Given the description of an element on the screen output the (x, y) to click on. 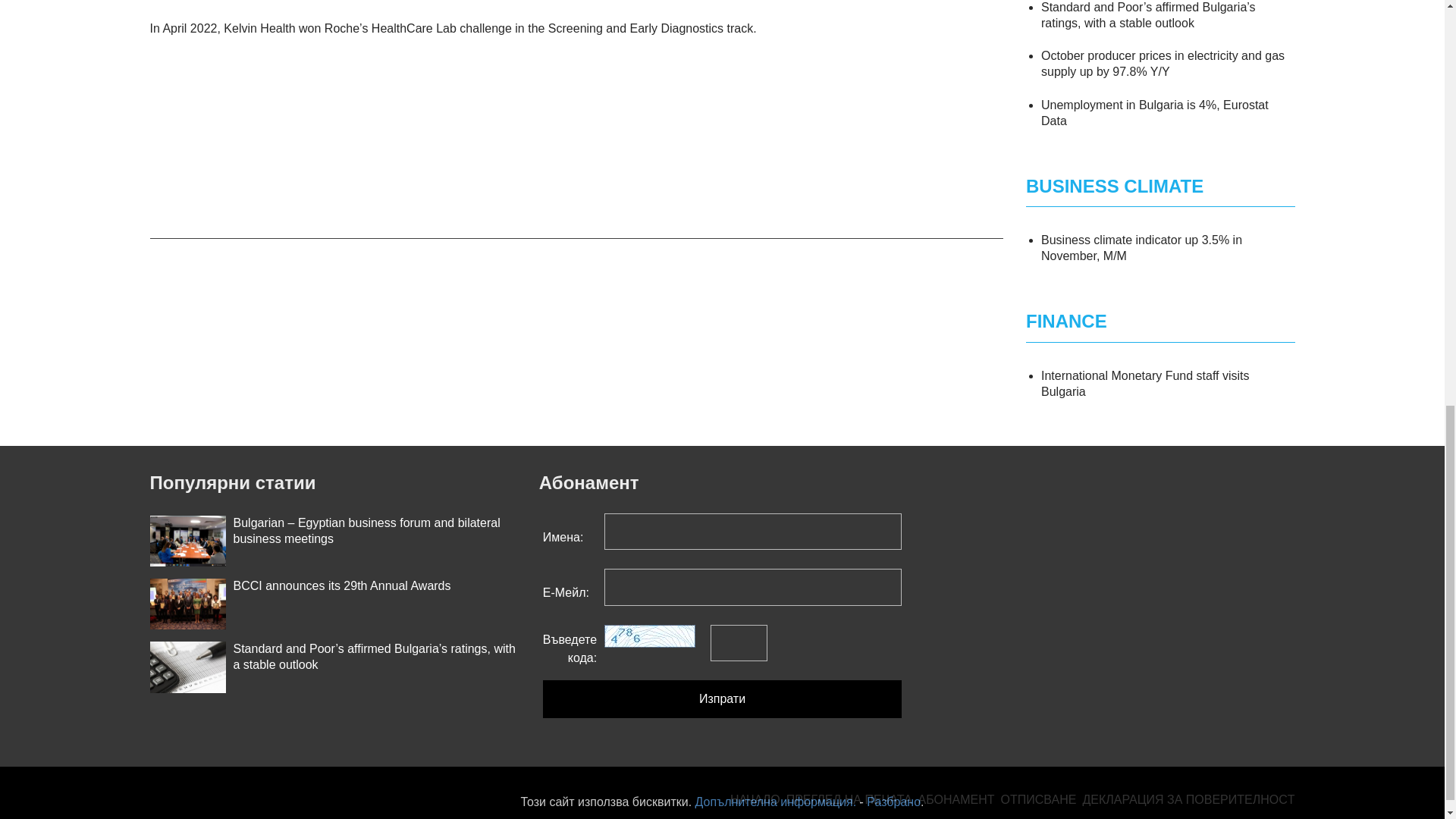
International Monetary Fund staff visits Bulgaria (1145, 383)
